Given the description of an element on the screen output the (x, y) to click on. 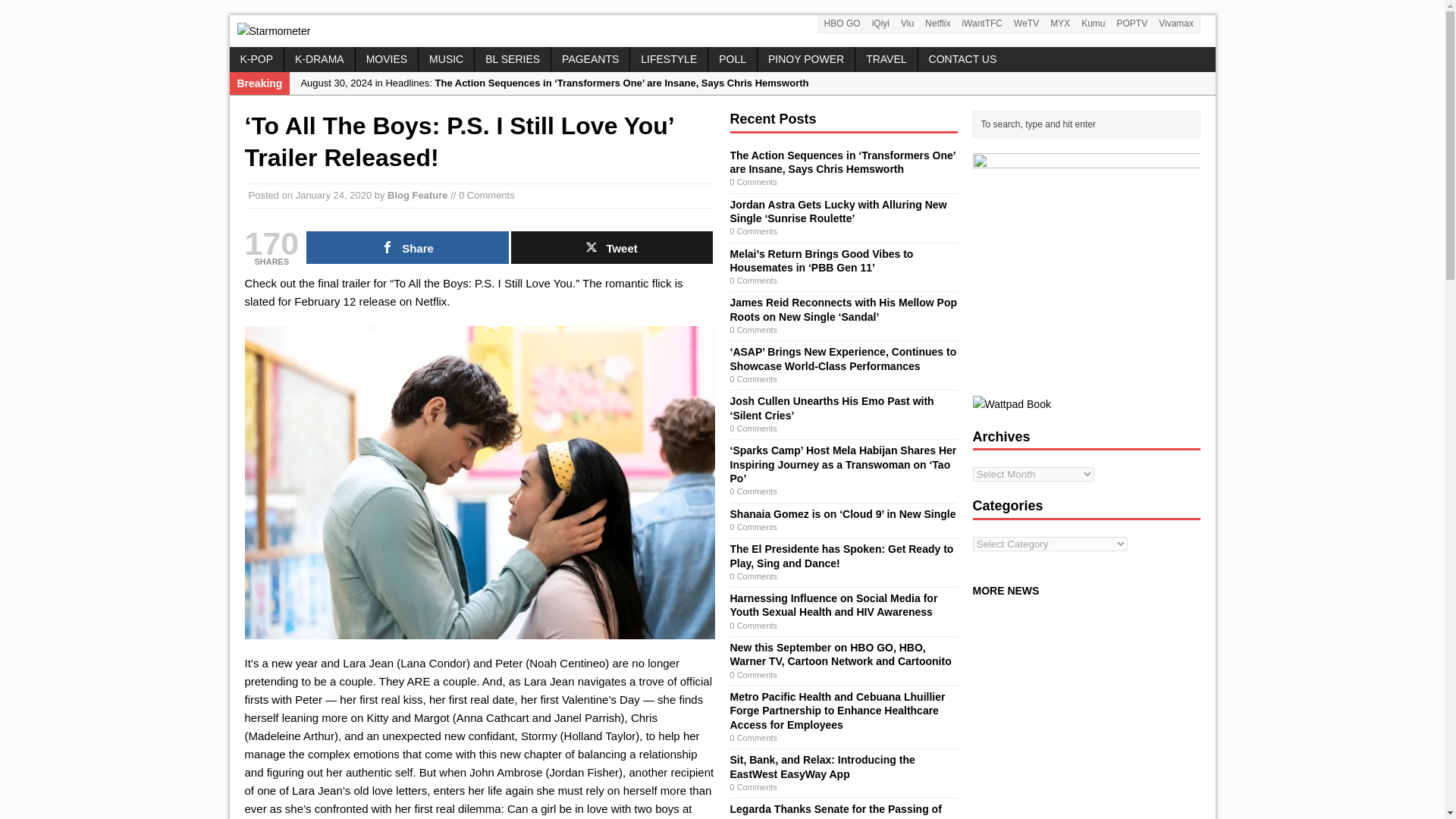
WeTV (1027, 23)
Vivamax (1176, 23)
POLL (732, 58)
iWantTFC (982, 23)
Viu (906, 23)
MYX (1060, 23)
MOVIES (386, 58)
PAGEANTS (589, 58)
K-POP (255, 58)
STARMOMETER (721, 30)
